Given the description of an element on the screen output the (x, y) to click on. 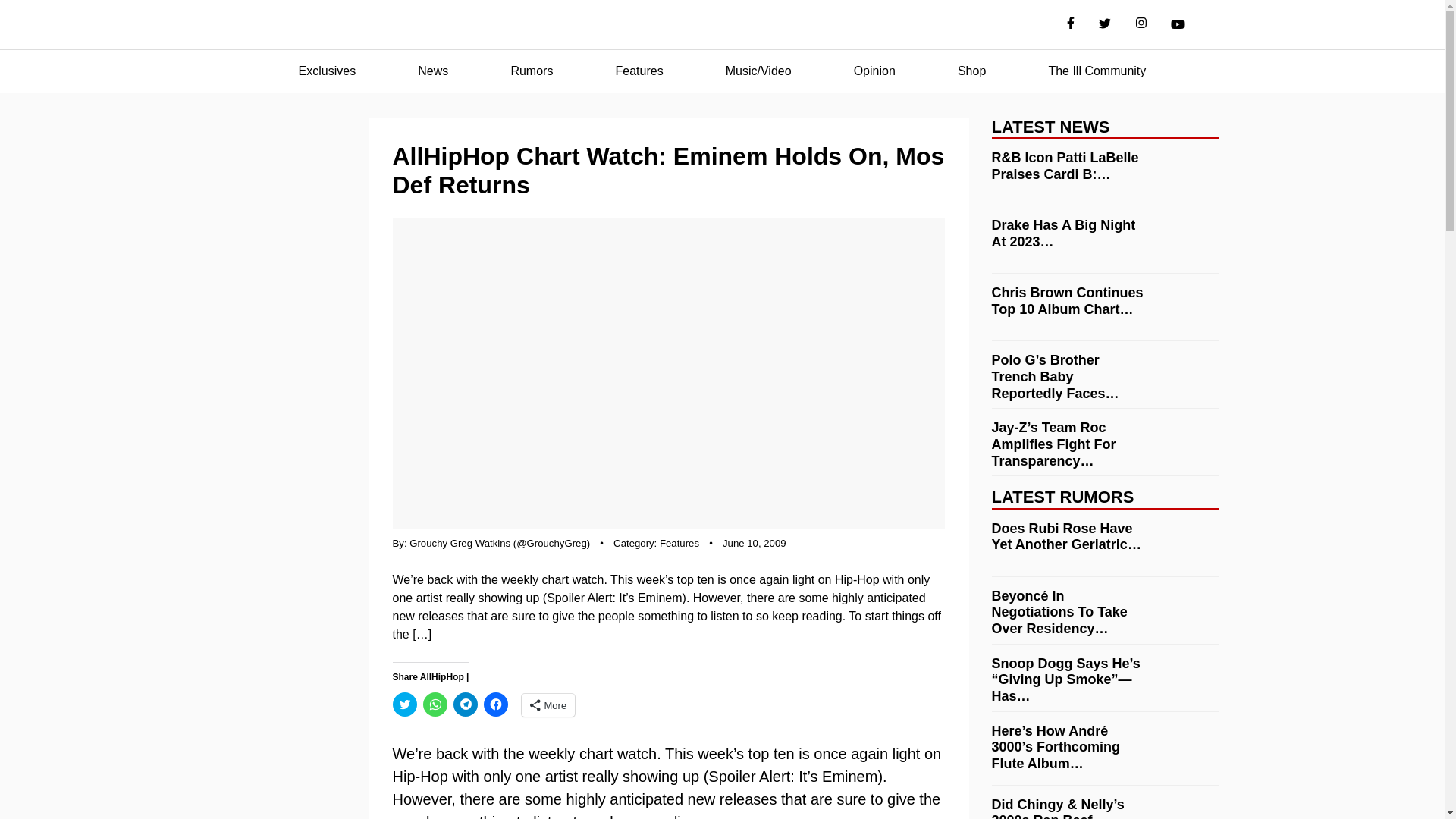
Rumors (530, 70)
Features (638, 70)
The Ill Community (1096, 70)
Click to share on WhatsApp (434, 704)
Shop (970, 70)
Click to share on Twitter (404, 704)
News (433, 70)
Exclusives (327, 70)
Click to share on Facebook (495, 704)
Opinion (874, 70)
